Given the description of an element on the screen output the (x, y) to click on. 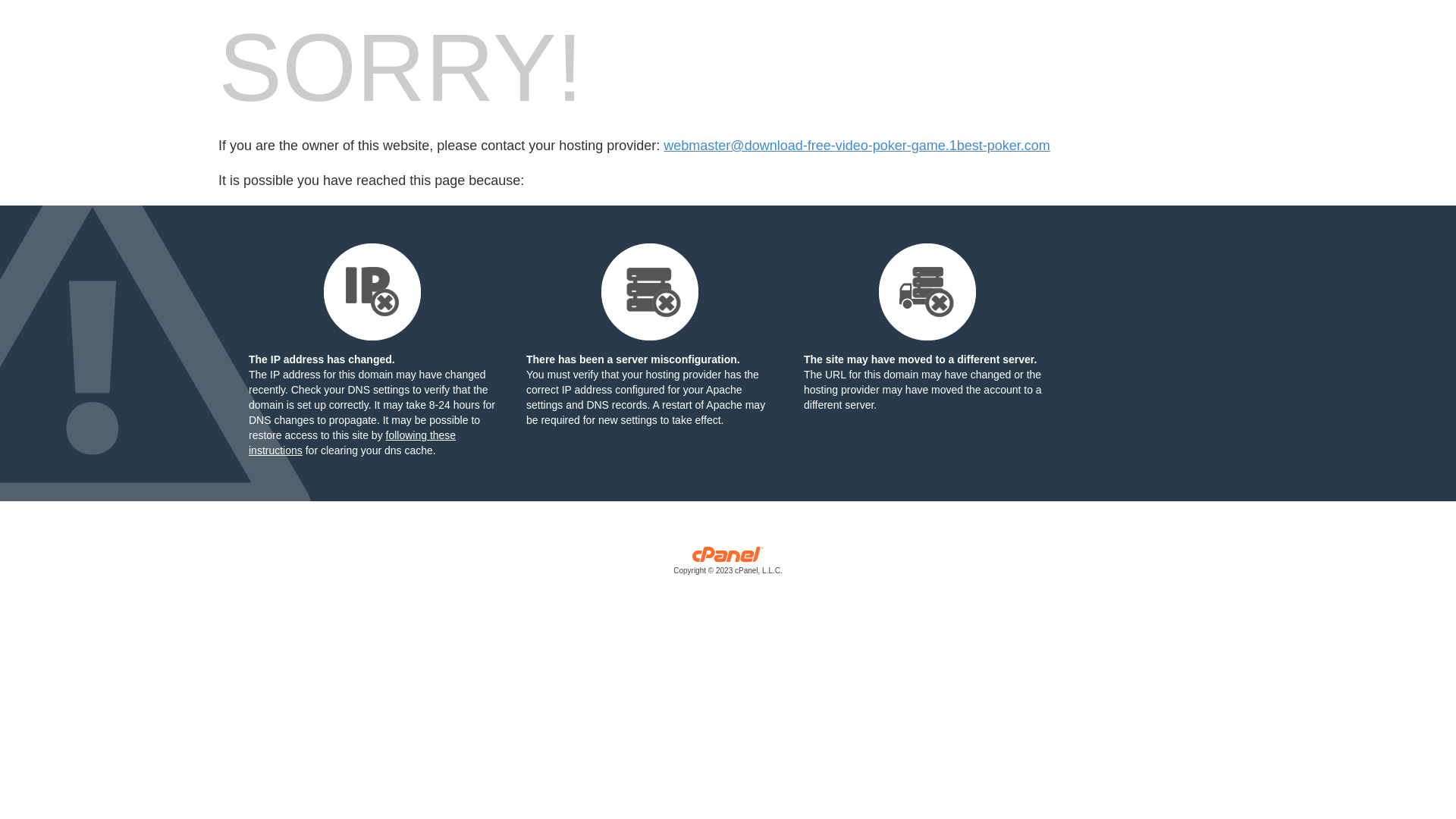
following these instructions Element type: text (351, 442)
webmaster@download-free-video-poker-game.1best-poker.com Element type: text (856, 145)
